Given the description of an element on the screen output the (x, y) to click on. 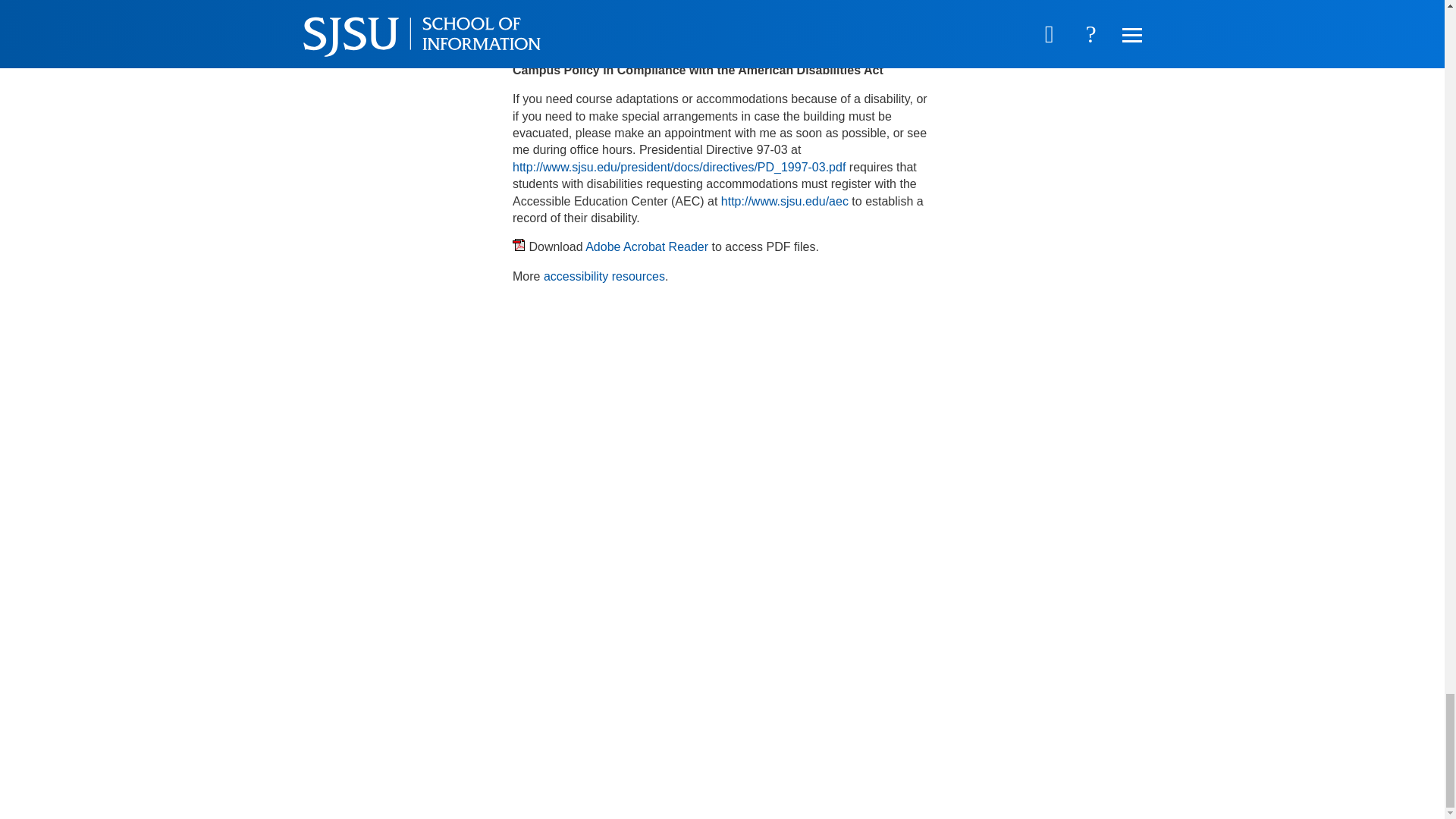
University Policy Ethical Conduct (609, 40)
